Given the description of an element on the screen output the (x, y) to click on. 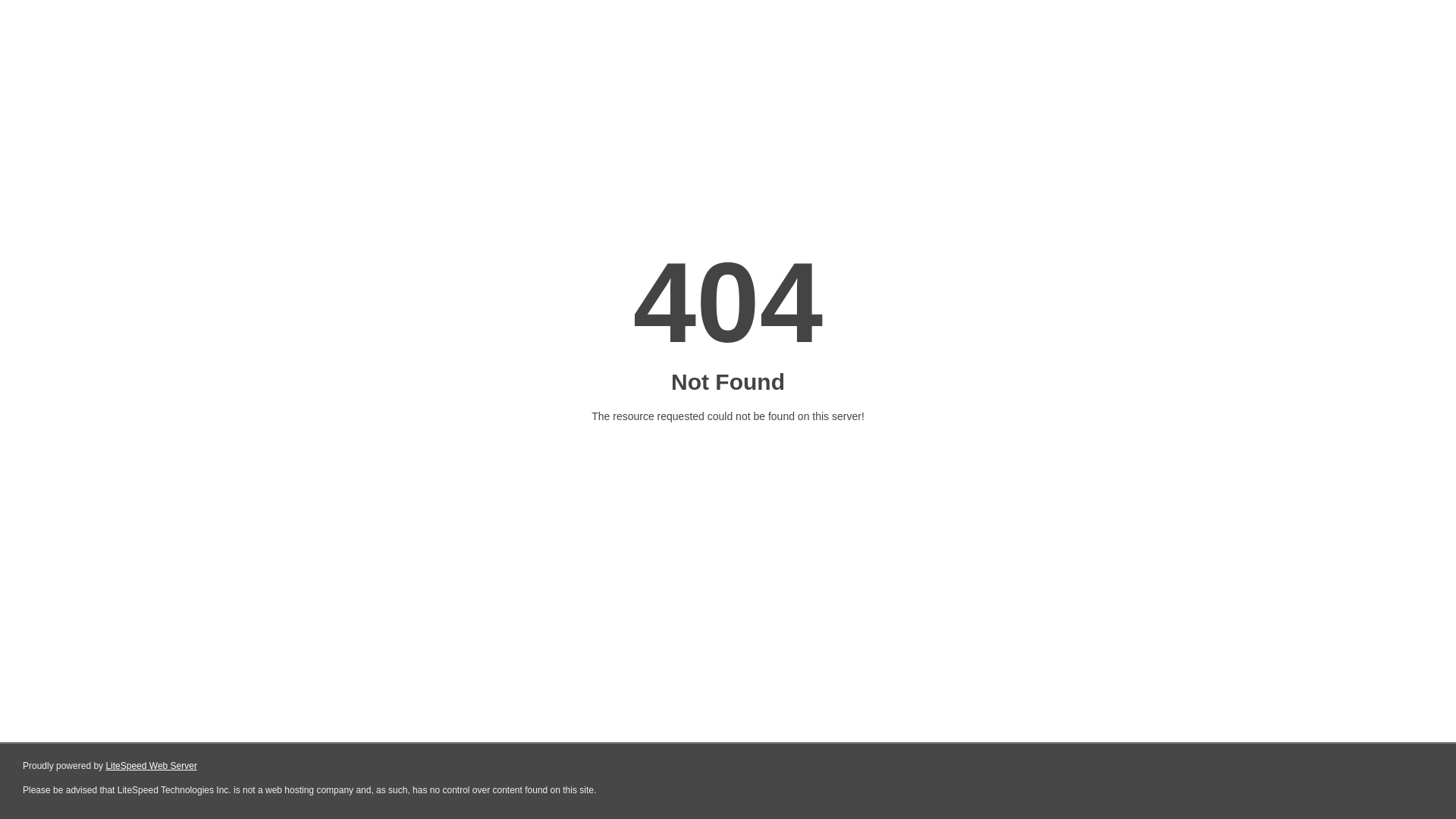
LiteSpeed Web Server Element type: text (151, 765)
